Given the description of an element on the screen output the (x, y) to click on. 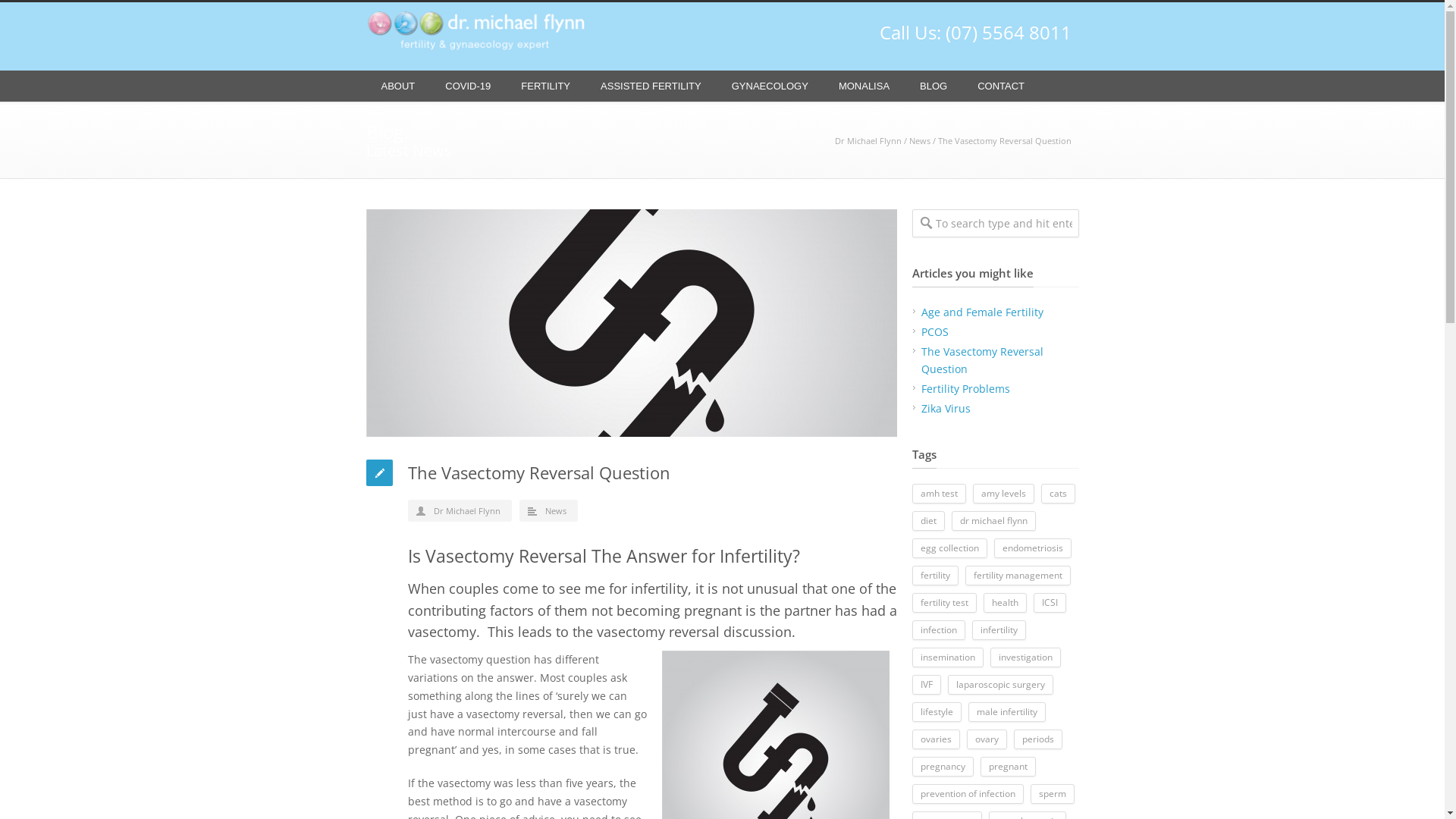
prevention of infection Element type: text (966, 793)
endometriosis Element type: text (1031, 548)
lifestyle Element type: text (935, 711)
infection Element type: text (937, 630)
infertility Element type: text (999, 630)
MONALISA Element type: text (863, 85)
FERTILITY Element type: text (545, 85)
ovary Element type: text (986, 739)
fertility management Element type: text (1017, 575)
sperm Element type: text (1051, 793)
pregnant Element type: text (1007, 766)
COVID-19 Element type: text (467, 85)
BLOG Element type: text (933, 85)
Zika Virus Element type: text (944, 408)
ICSI Element type: text (1048, 602)
GYNAECOLOGY Element type: text (769, 85)
health Element type: text (1004, 602)
male infertility Element type: text (1005, 711)
CONTACT Element type: text (1000, 85)
ABOUT Element type: text (397, 85)
dr michael flynn Element type: text (992, 520)
News Element type: text (918, 140)
ovaries Element type: text (935, 739)
PCOS Element type: text (933, 331)
Dr Michael Flynn Element type: text (867, 140)
fertility test Element type: text (943, 602)
The Vasectomy Reversal Question Element type: text (981, 360)
Dr Michael Flynn Element type: text (466, 510)
News Element type: text (554, 510)
amh test Element type: text (938, 493)
investigation Element type: text (1025, 657)
pregnancy Element type: text (941, 766)
Age and Female Fertility Element type: text (981, 311)
egg collection Element type: text (948, 548)
ASSISTED FERTILITY Element type: text (650, 85)
Fertility Problems Element type: text (964, 388)
cats Element type: text (1057, 493)
diet Element type: text (927, 520)
IVF Element type: text (925, 684)
amy levels Element type: text (1002, 493)
The Vasectomy Reversal Question Element type: hover (630, 322)
insemination Element type: text (946, 657)
fertility Element type: text (934, 575)
periods Element type: text (1037, 739)
laparoscopic surgery Element type: text (1000, 684)
